Given the description of an element on the screen output the (x, y) to click on. 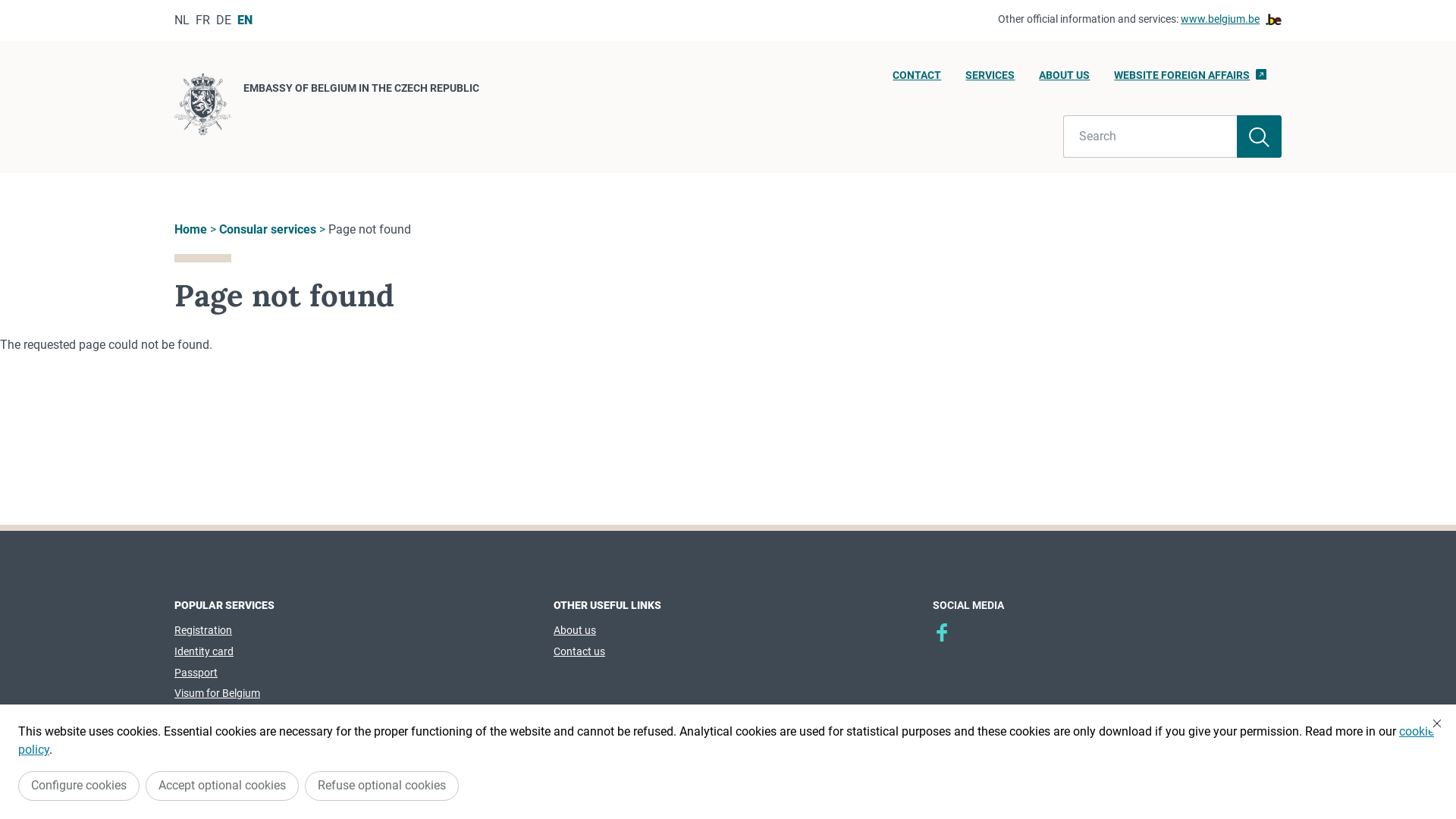
CONTACT Element type: text (916, 79)
Search Element type: hover (1149, 136)
Close Element type: hover (1436, 723)
Embassy of Belgium in Prague, Czech Republic Element type: text (941, 632)
ABOUT US Element type: text (1063, 79)
Legal notice Element type: text (683, 772)
FR Element type: text (202, 19)
About us Element type: text (574, 630)
Passport Element type: text (195, 672)
Skip to main content Element type: text (7, 4)
Consular services Element type: text (267, 229)
www.belgium.be Element type: text (1230, 19)
Accept optional cookies Element type: text (221, 785)
NL Element type: text (181, 19)
Visum for Belgium Element type: text (217, 693)
Home Element type: text (190, 229)
Configure cookies Element type: text (78, 785)
Protection of personal data Element type: text (566, 772)
EN Element type: text (244, 19)
EMBASSY OF BELGIUM IN THE CZECH REPUBLIC Element type: text (326, 106)
Refuse optional cookies Element type: text (381, 785)
Identity card Element type: text (203, 651)
Accessibility statement Element type: text (887, 772)
WEBSITE FOREIGN AFFAIRS Element type: text (1189, 79)
cookie policy Element type: text (726, 740)
DE Element type: text (223, 19)
Registration Element type: text (203, 630)
Contact us Element type: text (579, 651)
SERVICES Element type: text (989, 79)
Apply filter Element type: text (1258, 136)
Cookie Policy Element type: text (767, 772)
